Given the description of an element on the screen output the (x, y) to click on. 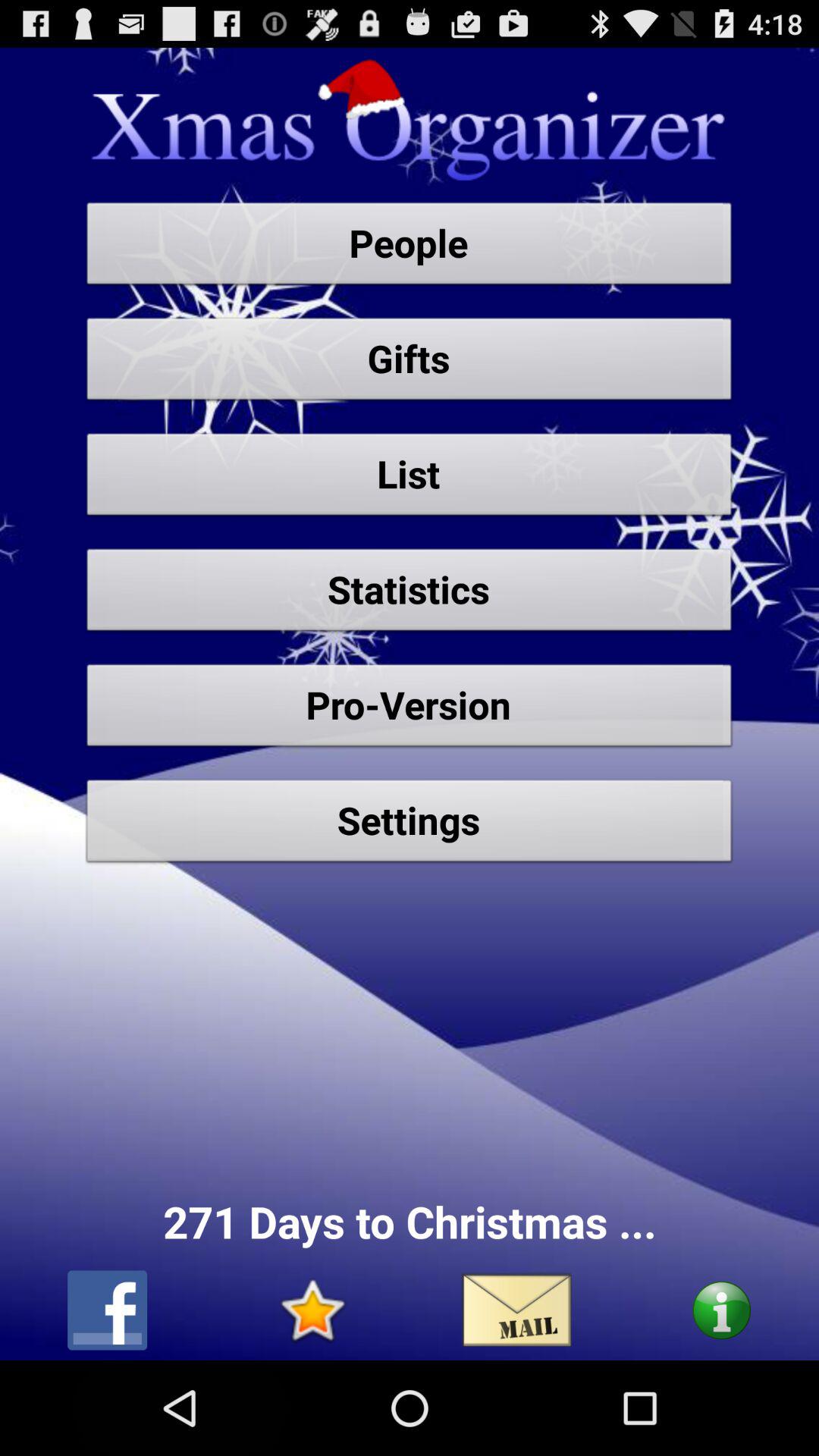
email (516, 1310)
